Given the description of an element on the screen output the (x, y) to click on. 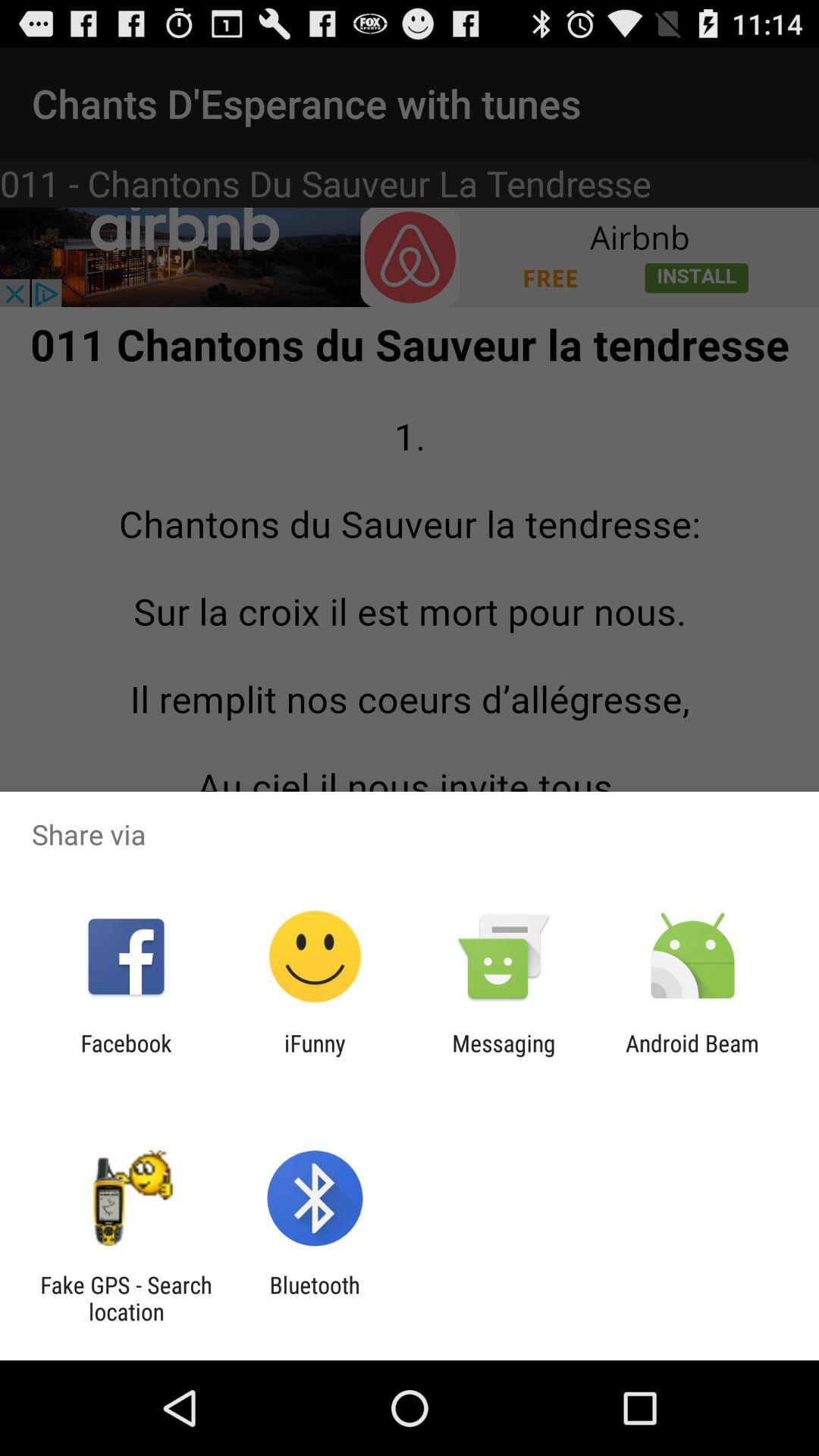
scroll to the messaging icon (503, 1056)
